Given the description of an element on the screen output the (x, y) to click on. 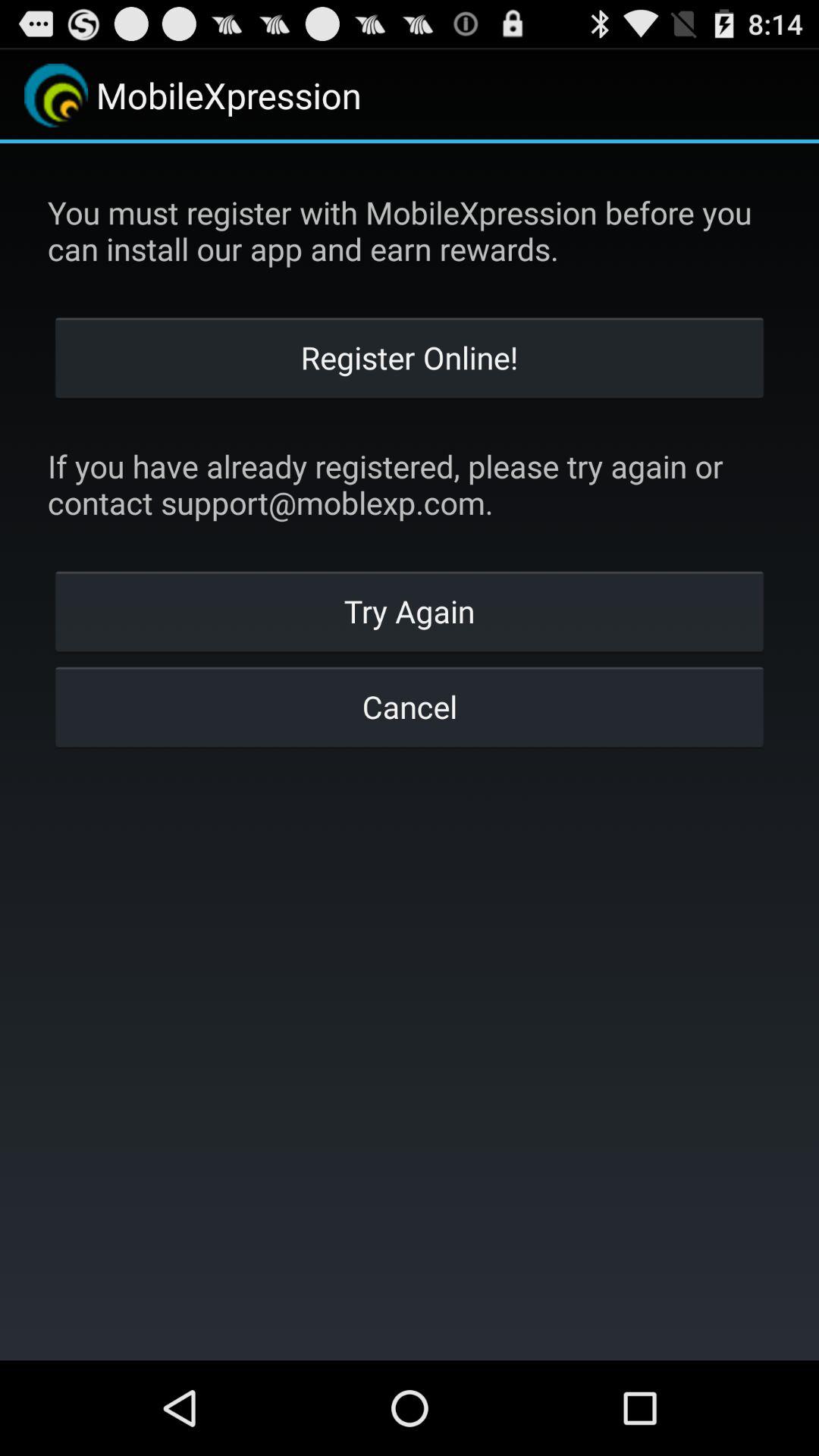
tap icon above if you have icon (409, 356)
